Given the description of an element on the screen output the (x, y) to click on. 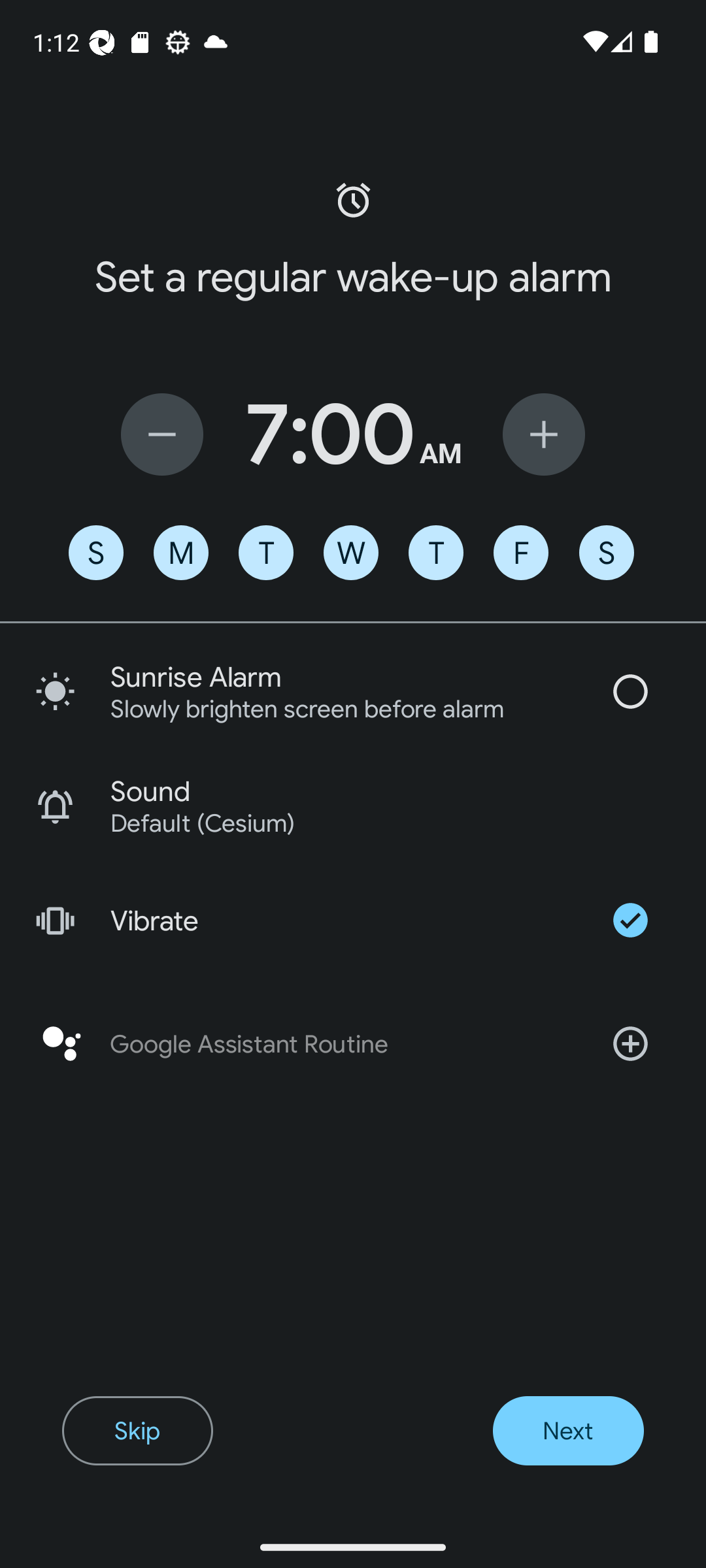
7:00 AM Wake-up 7:00 AM (352, 434)
Fifteen minutes earlier (161, 434)
Fifteen minutes later (543, 434)
S Sunday (95, 552)
M Monday (180, 552)
T Tuesday (266, 552)
W Wednesday (350, 552)
T Thursday (435, 552)
F Friday (520, 552)
S Saturday (606, 552)
Sunrise Alarm Slowly brighten screen before alarm (353, 691)
Sound Default (Cesium) Ringtone Default (Cesium) (353, 805)
Vibrate (353, 920)
Google Assistant Routine (353, 1044)
Skip (137, 1430)
Next (567, 1430)
